Given the description of an element on the screen output the (x, y) to click on. 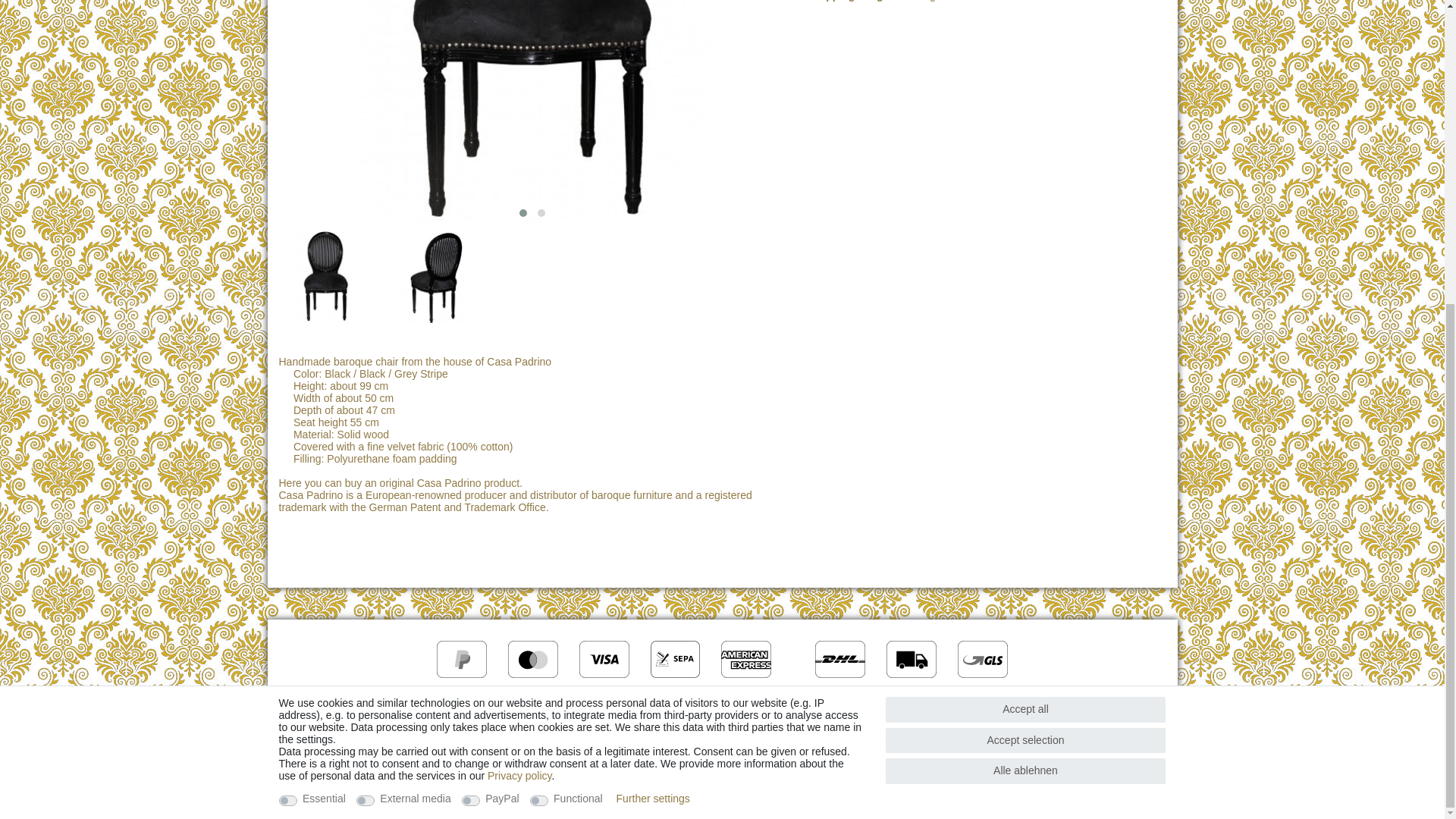
Contact (979, 742)
VISA (603, 659)
Privacy policy (569, 742)
Legal disclosure (477, 742)
Spedition (911, 659)
Terms and conditions (673, 742)
Cancellation rights (788, 742)
Further settings (652, 322)
Accept all (1025, 234)
Privacy policy (519, 300)
GLS (982, 659)
Mastercard (532, 659)
PayPal (461, 659)
American Express (745, 659)
Right of withdrawal (897, 742)
